Given the description of an element on the screen output the (x, y) to click on. 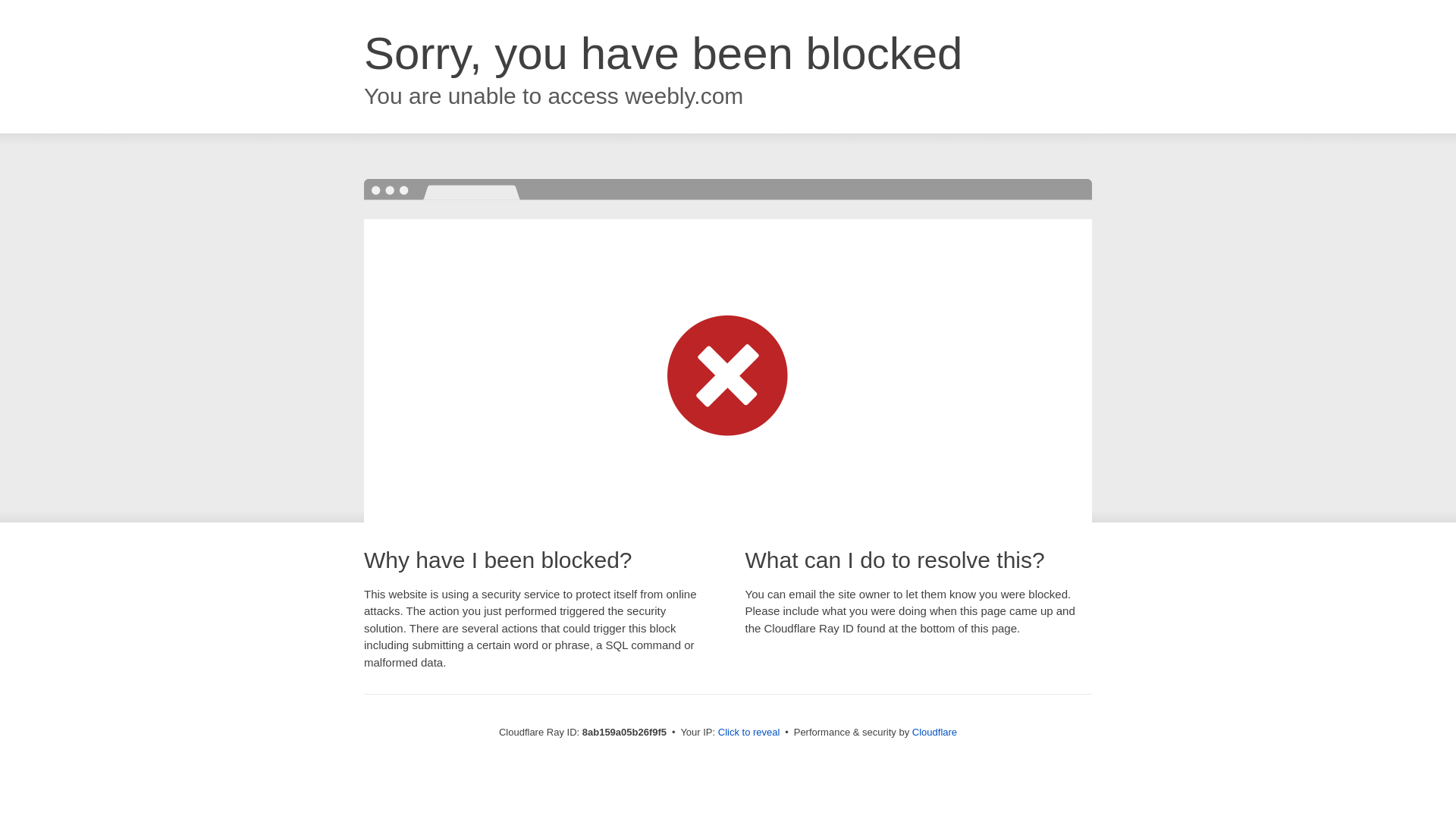
Click to reveal (748, 732)
Cloudflare (934, 731)
